Given the description of an element on the screen output the (x, y) to click on. 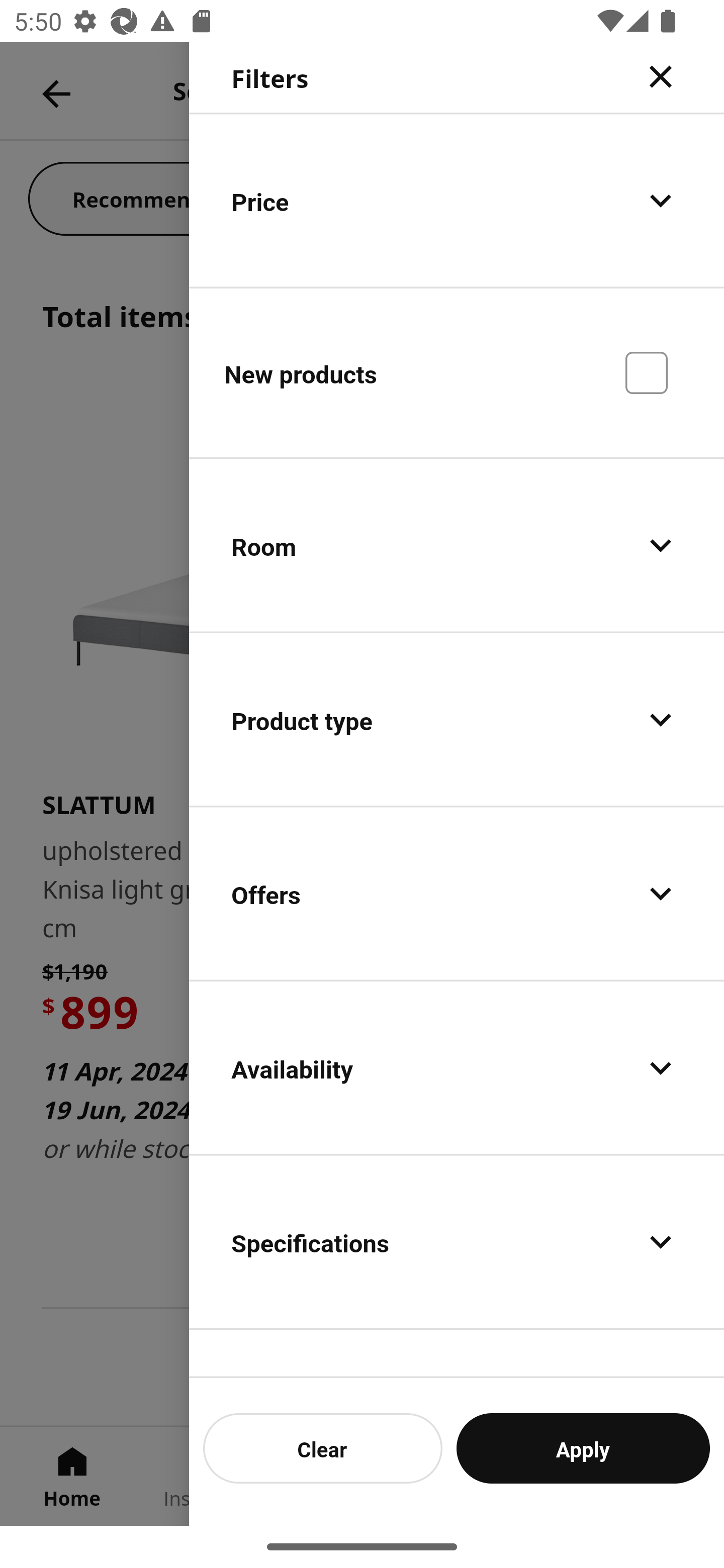
Price (456, 200)
New products (456, 371)
Room (456, 545)
Product type (456, 719)
Offers (456, 893)
Availability (456, 1067)
Specifications (456, 1241)
Clear (322, 1447)
Apply (583, 1447)
